Given the description of an element on the screen output the (x, y) to click on. 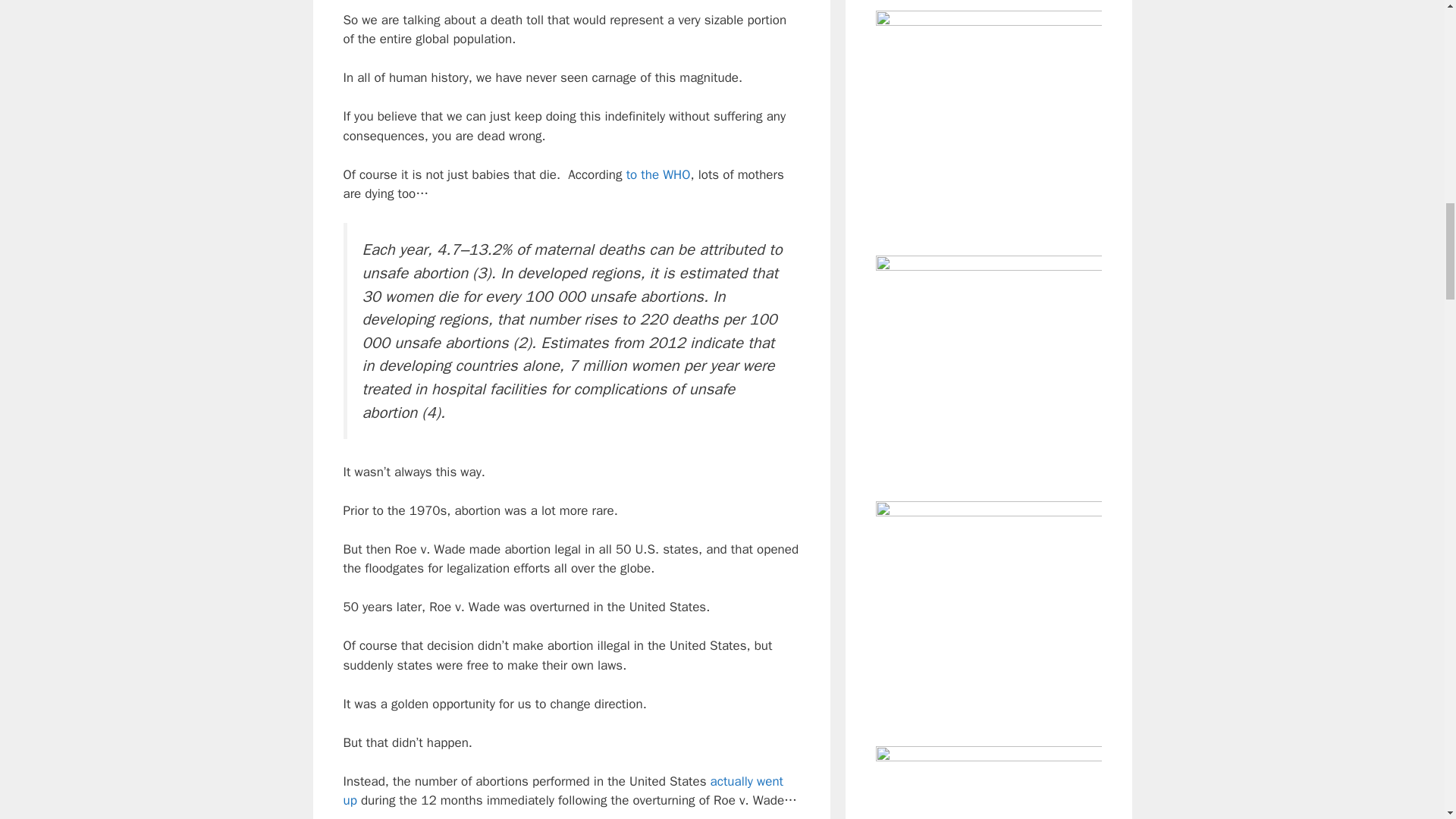
actually went up (562, 791)
to the WHO (658, 174)
